Given the description of an element on the screen output the (x, y) to click on. 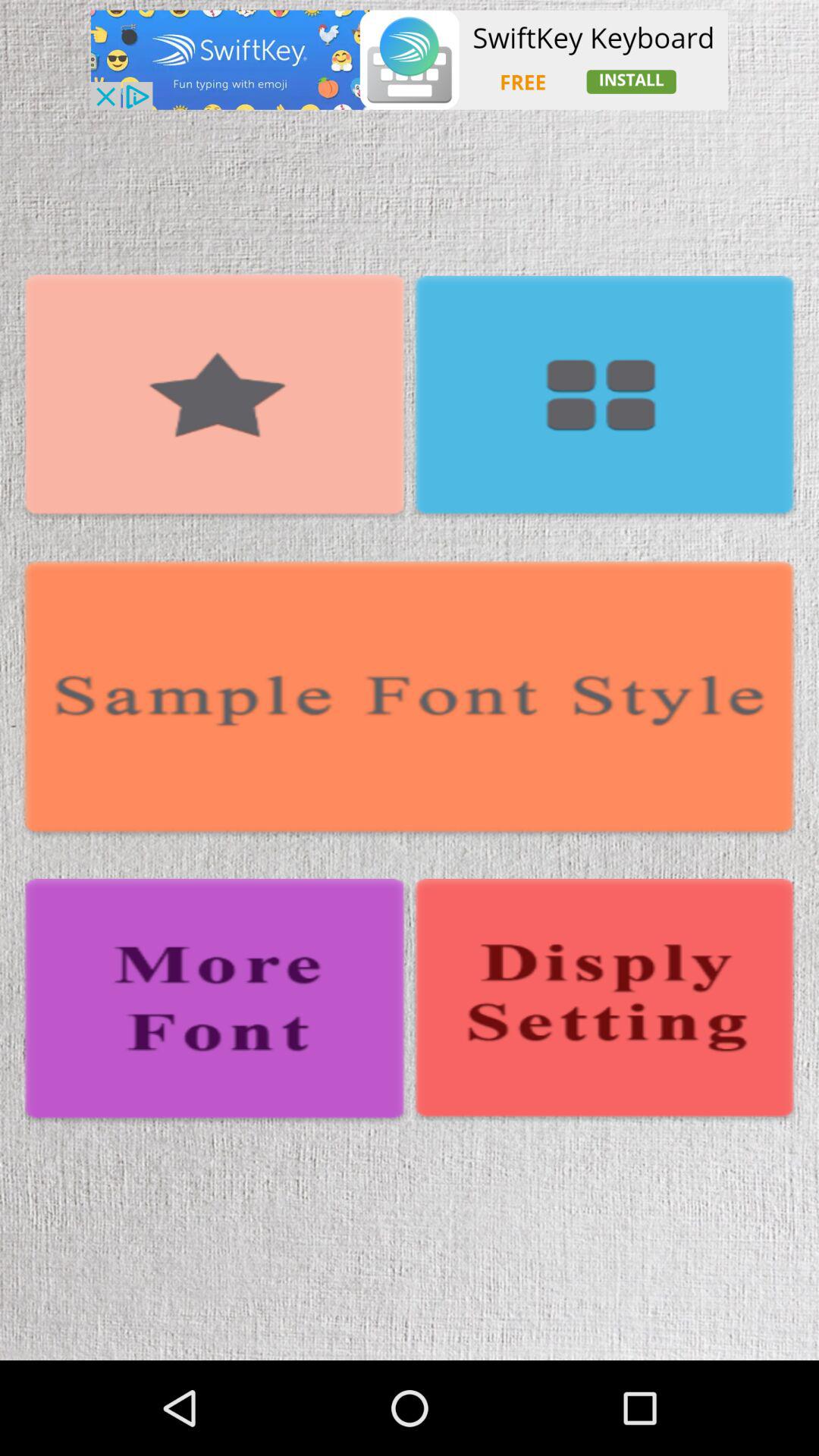
view font styles (409, 699)
